Given the description of an element on the screen output the (x, y) to click on. 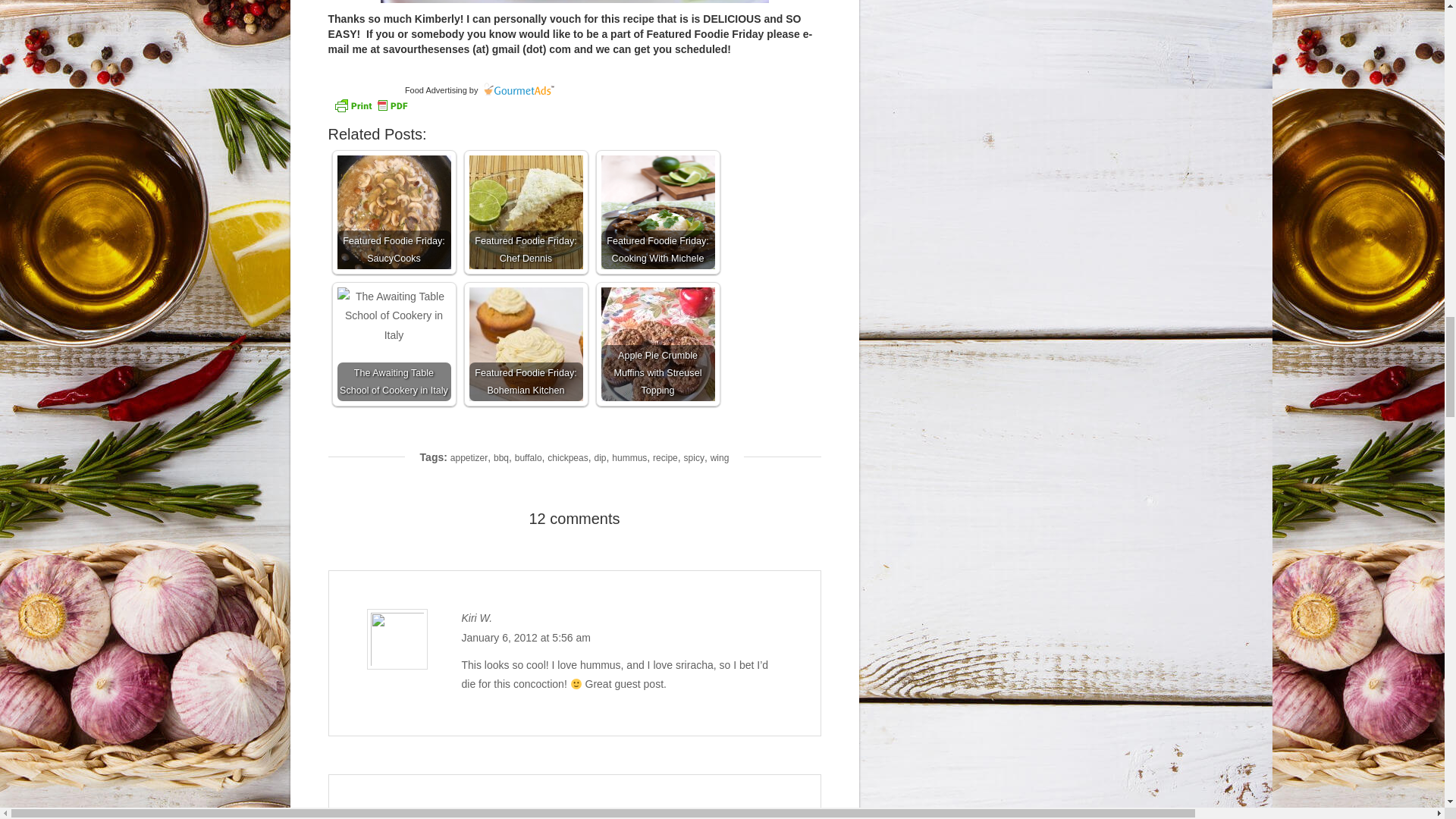
Featured Foodie Friday: SaucyCooks (392, 212)
hummus (628, 457)
Featured Foodie Friday: Cooking With Michele (656, 212)
Featured Foodie Friday: SaucyCooks (392, 212)
dip (600, 457)
appetizer (468, 457)
Featured Foodie Friday: Chef Dennis (525, 212)
Featured Foodie Friday: Bohemian Kitchen (525, 344)
The Awaiting Table School of Cookery in Italy (392, 344)
Apple Pie Crumble Muffins with Streusel Topping (656, 344)
bbq (500, 457)
Food Advertising (435, 90)
recipe (665, 457)
The Awaiting Table School of Cookery in Italy (392, 315)
